Given the description of an element on the screen output the (x, y) to click on. 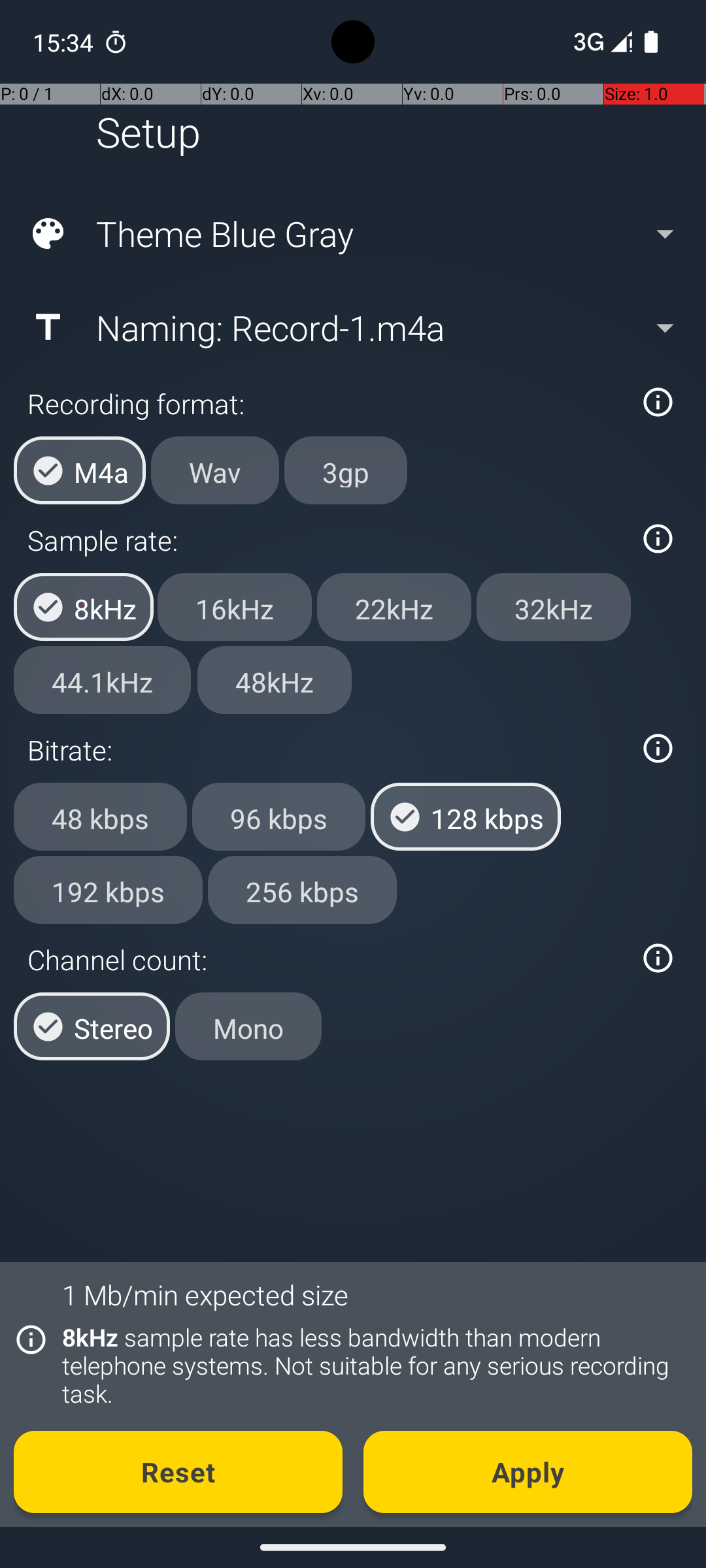
8kHz sample rate has less bandwidth than modern telephone systems. Not suitable for any serious recording task. Element type: android.widget.TextView (370, 1364)
